Given the description of an element on the screen output the (x, y) to click on. 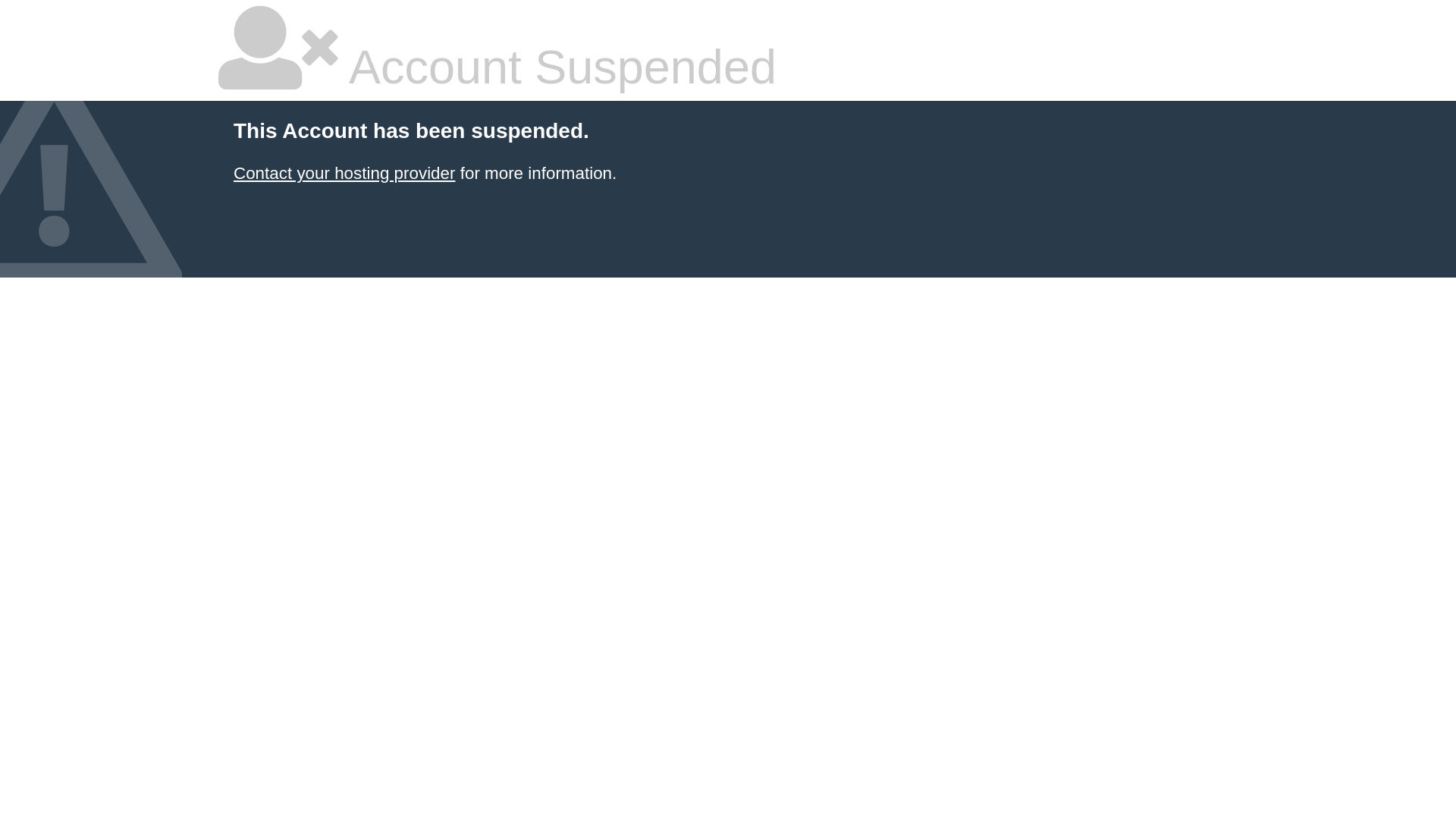
Contact your hosting provider Element type: text (344, 172)
